Given the description of an element on the screen output the (x, y) to click on. 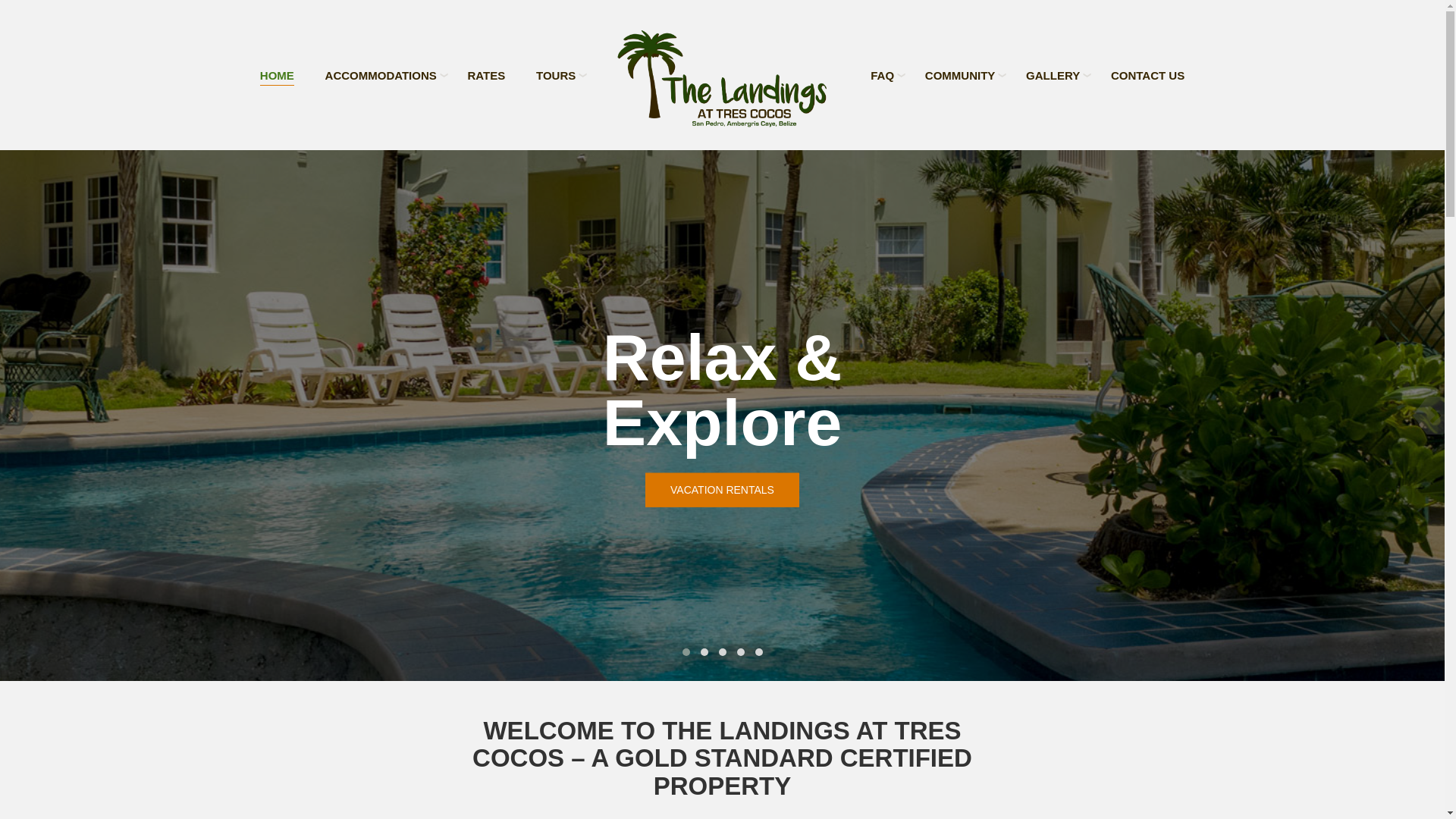
FAQ (881, 75)
Rates (486, 75)
TOURS (555, 75)
FAQ (881, 75)
RATES (486, 75)
Home (277, 75)
VACATION RENTALS (722, 489)
CONTACT US (1147, 75)
HOME (277, 75)
TOURS (555, 75)
COMMUNITY (959, 75)
ACCOMMODATIONS (380, 75)
ACCOMMODATIONS (380, 75)
GALLERY (1053, 75)
